Given the description of an element on the screen output the (x, y) to click on. 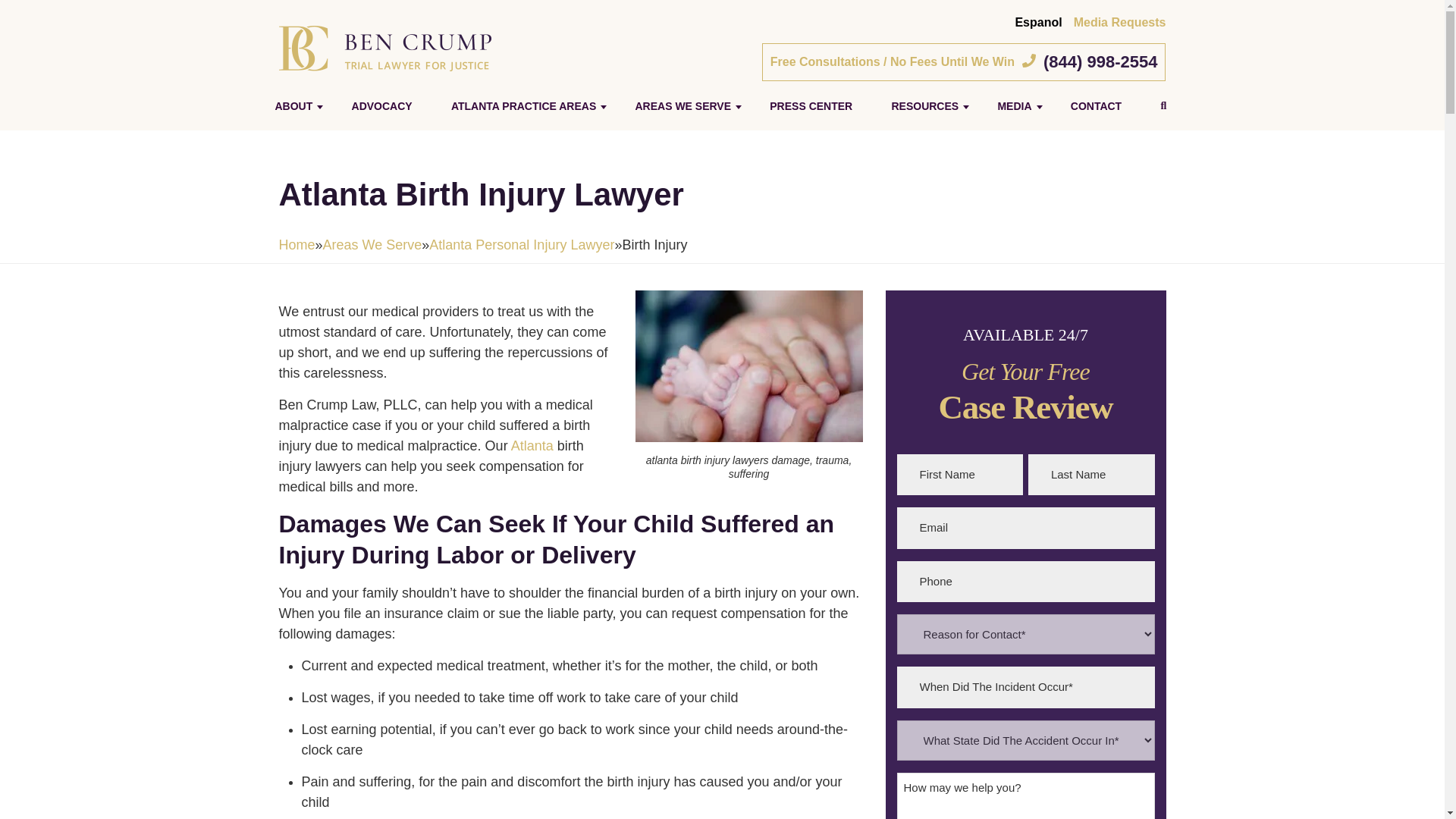
AREAS WE SERVE (682, 105)
Media Requests (1120, 21)
PRESS CENTER (810, 105)
RESOURCES (924, 105)
Ben Crump - Trial Lawyer for Justice (385, 47)
MEDIA (1014, 105)
Espanol (1037, 21)
ATLANTA PRACTICE AREAS (524, 105)
ABOUT (293, 105)
Ben Crump Logo (385, 48)
ADVOCACY (381, 105)
